Given the description of an element on the screen output the (x, y) to click on. 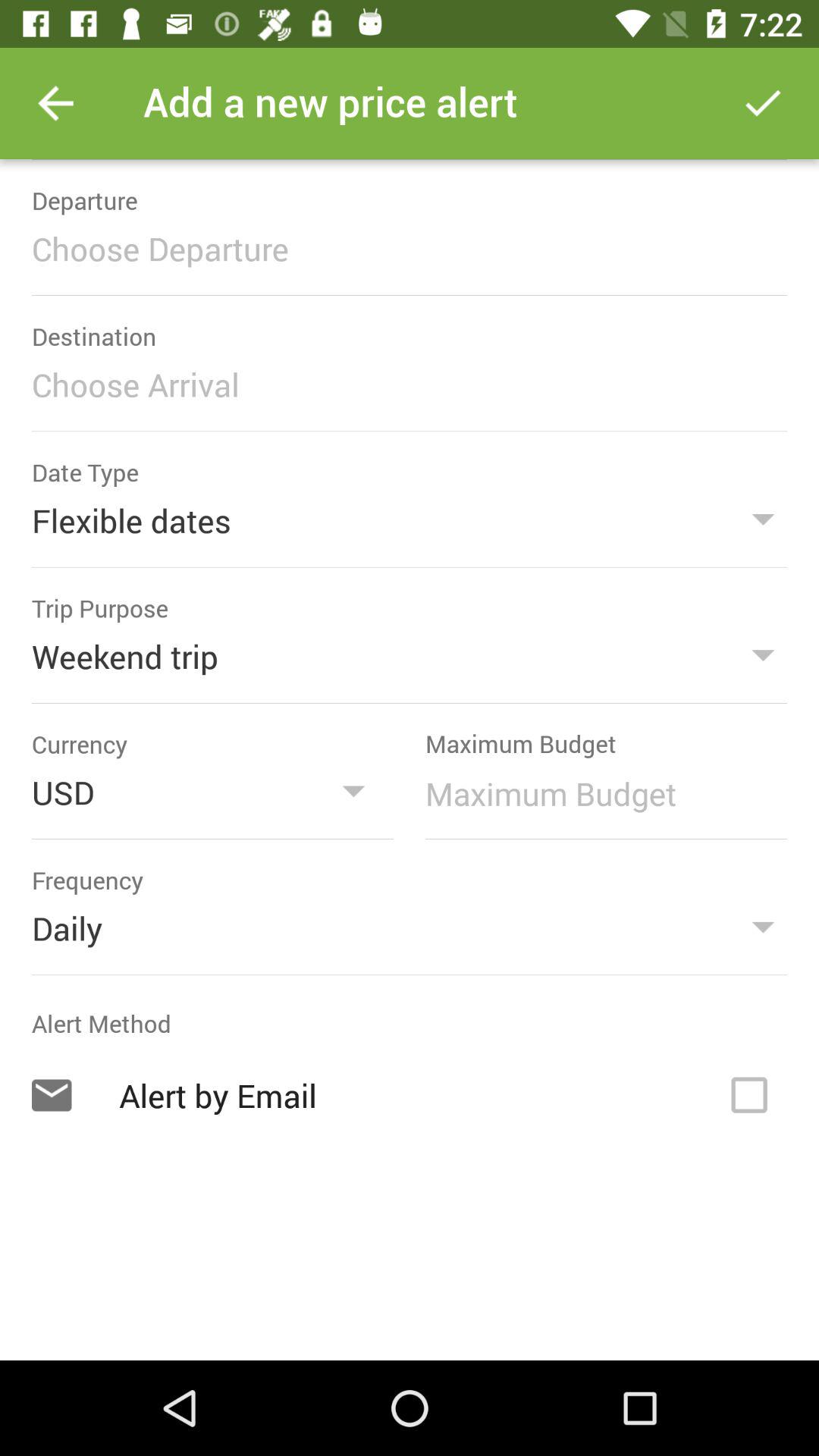
done option (763, 103)
